Given the description of an element on the screen output the (x, y) to click on. 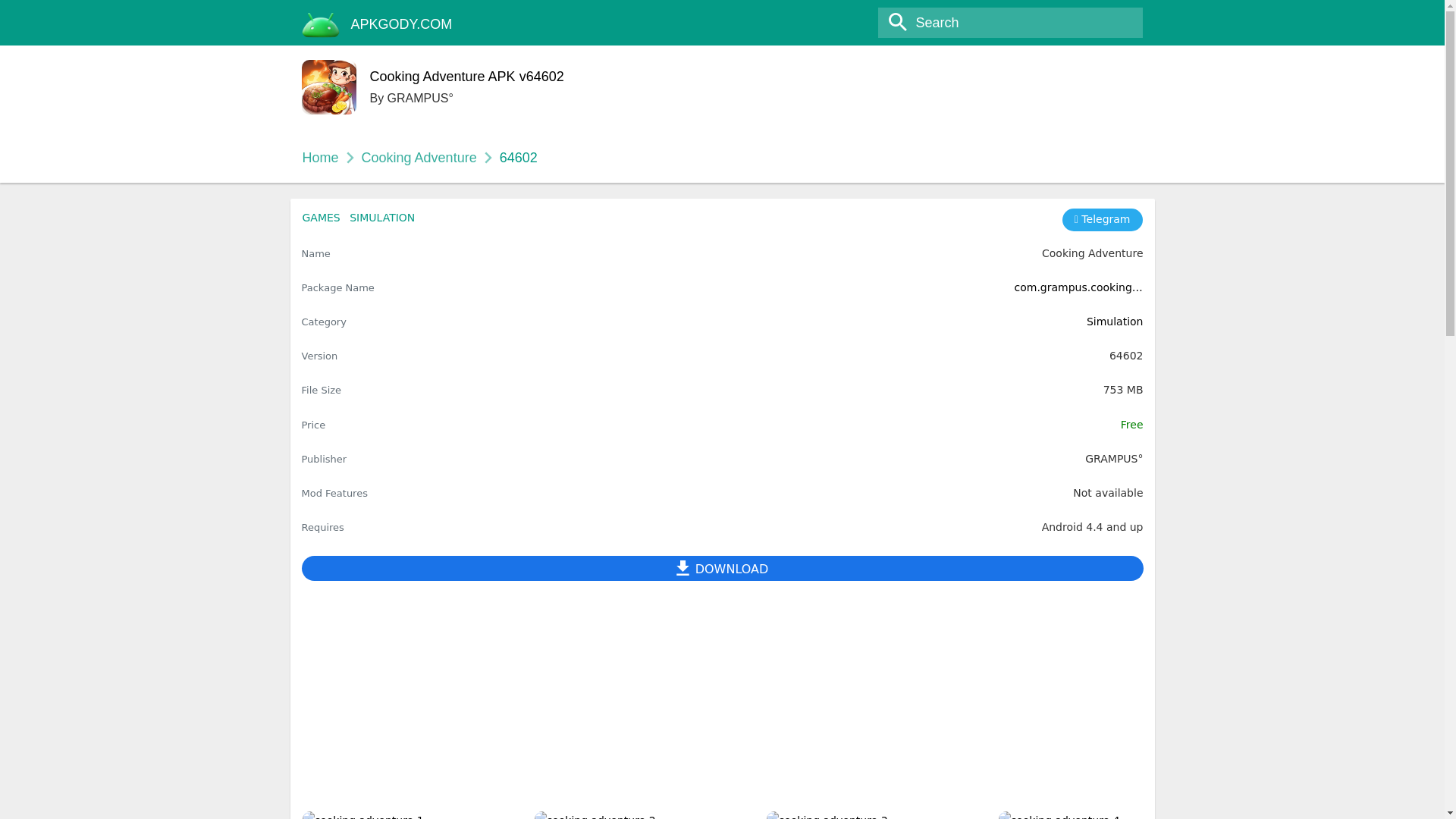
APKGODY.COM (401, 23)
Cooking Adventure APK v64602 3 (877, 815)
Cooking Adventure APK v64602 (466, 79)
Cooking Adventure APK v64602 1 (413, 815)
Cooking Adventure APK v64602 2 (646, 815)
DOWNLOAD (721, 568)
APKGODY.COM (401, 23)
Cooking Adventure APK v64602 4 (1110, 815)
GAMES (320, 217)
